Given the description of an element on the screen output the (x, y) to click on. 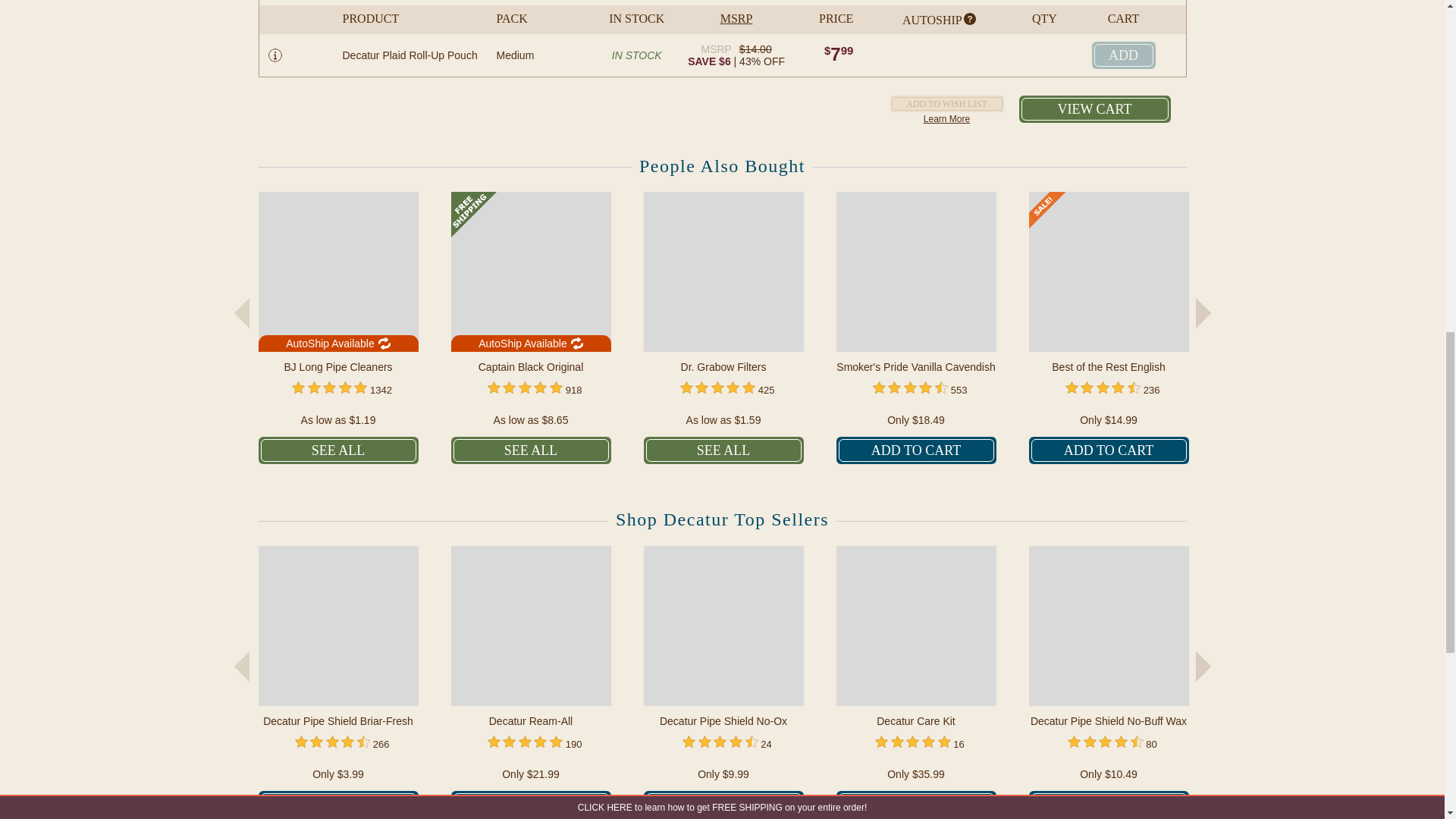
Best of the Rest English (1107, 271)
Captain Black Regular Pipe Tobacco (529, 271)
Quick View for Decatur Plaid Roll-Up Pouch (274, 55)
Dr. Grabow Pipe Filters (723, 271)
BJ Long Pipe Cleaners (337, 271)
Smoker's Pride Vanilla Cavendish (915, 271)
